Given the description of an element on the screen output the (x, y) to click on. 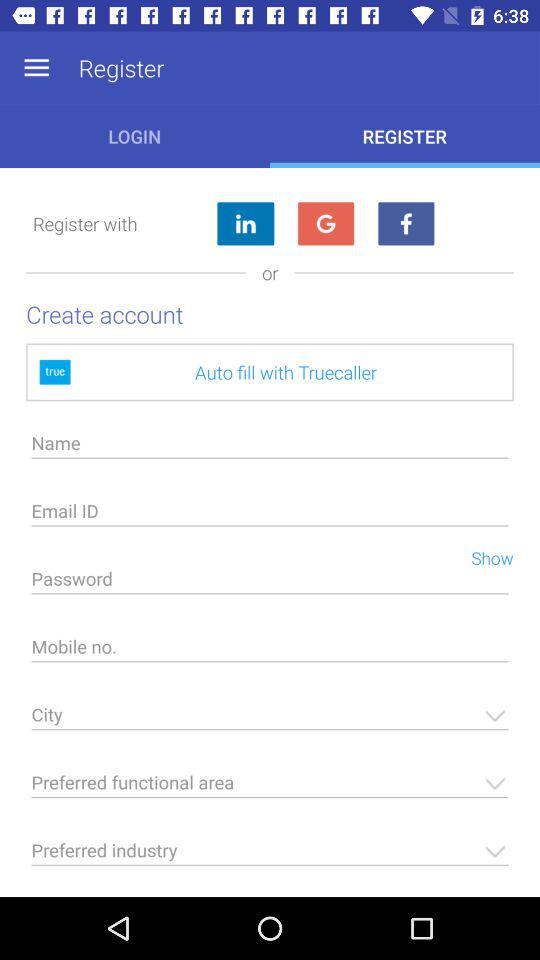
preferred functional area field (269, 788)
